Given the description of an element on the screen output the (x, y) to click on. 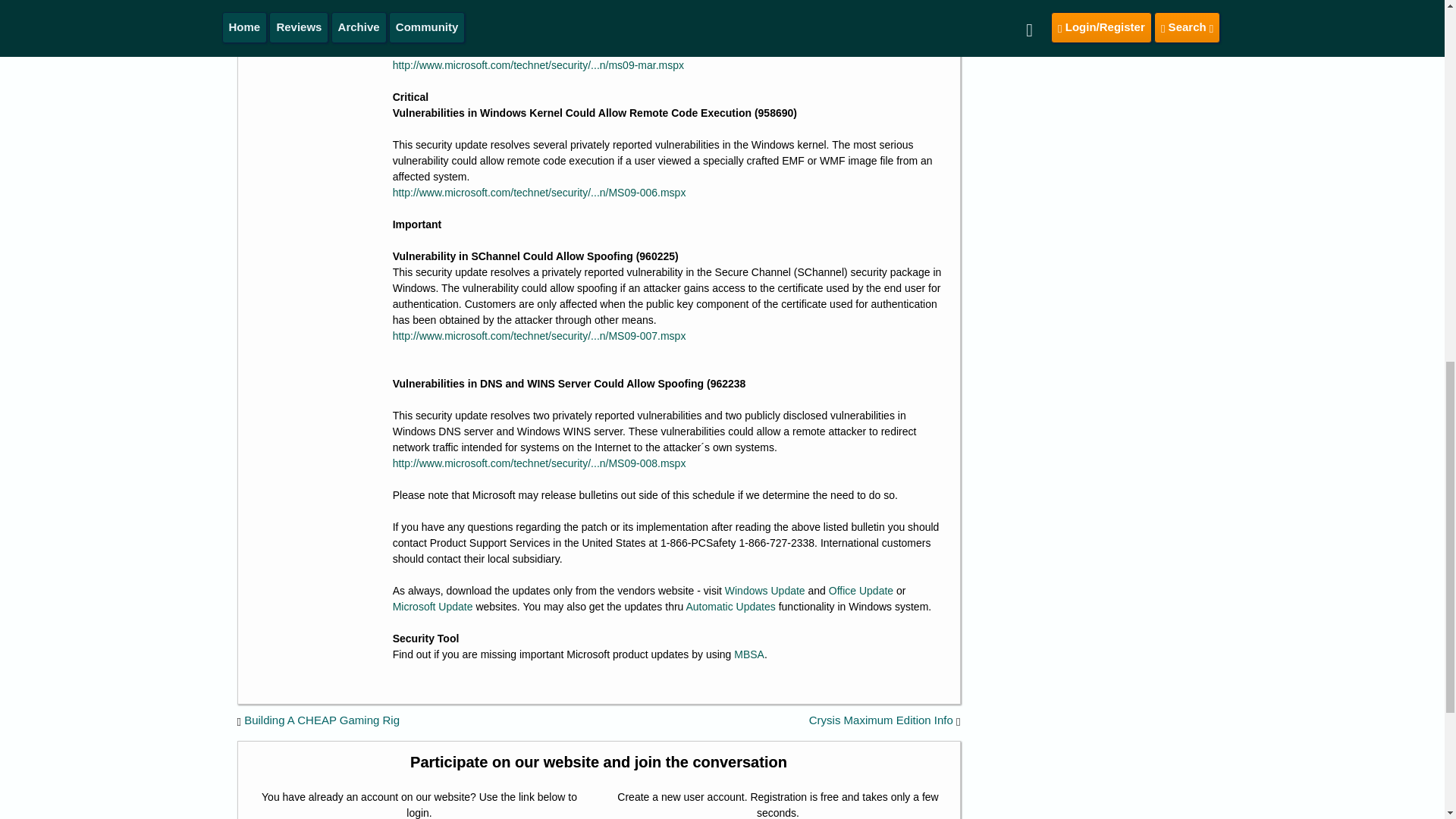
Crysis Maximum Edition Info (881, 719)
Windows Update (765, 590)
Microsoft Update (433, 606)
Building A CHEAP Gaming Rig (321, 719)
MBSA (748, 654)
Office Update (860, 590)
Automatic Updates (729, 606)
